Given the description of an element on the screen output the (x, y) to click on. 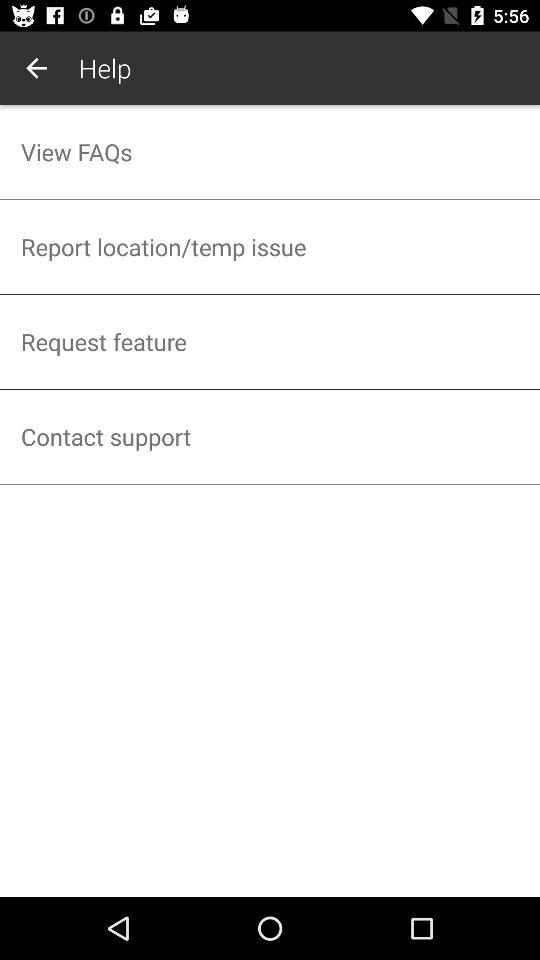
swipe until the request feature (270, 341)
